Given the description of an element on the screen output the (x, y) to click on. 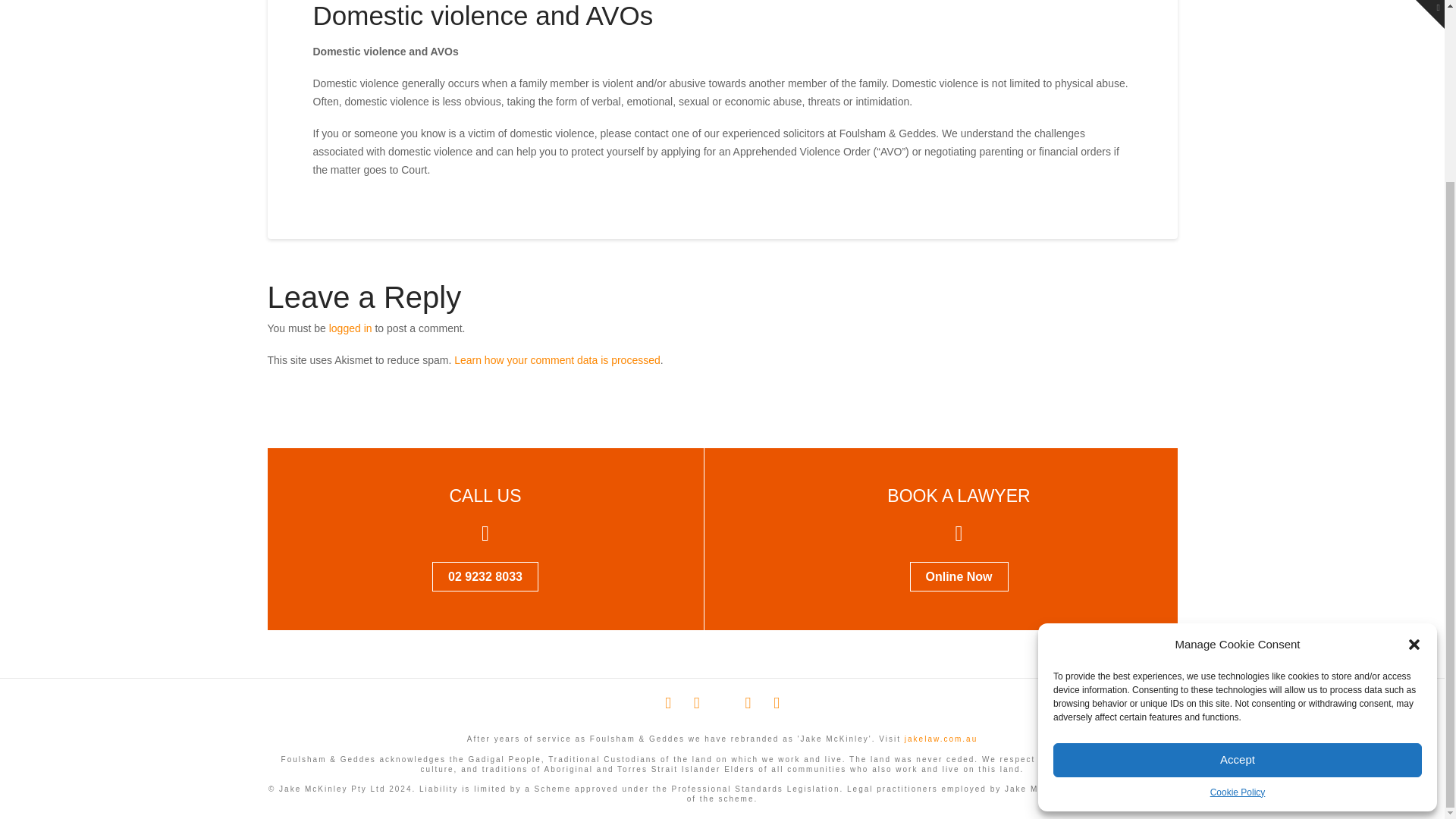
Cookie Policy (1237, 569)
Accept (1237, 537)
Back to Top (1423, 574)
